Given the description of an element on the screen output the (x, y) to click on. 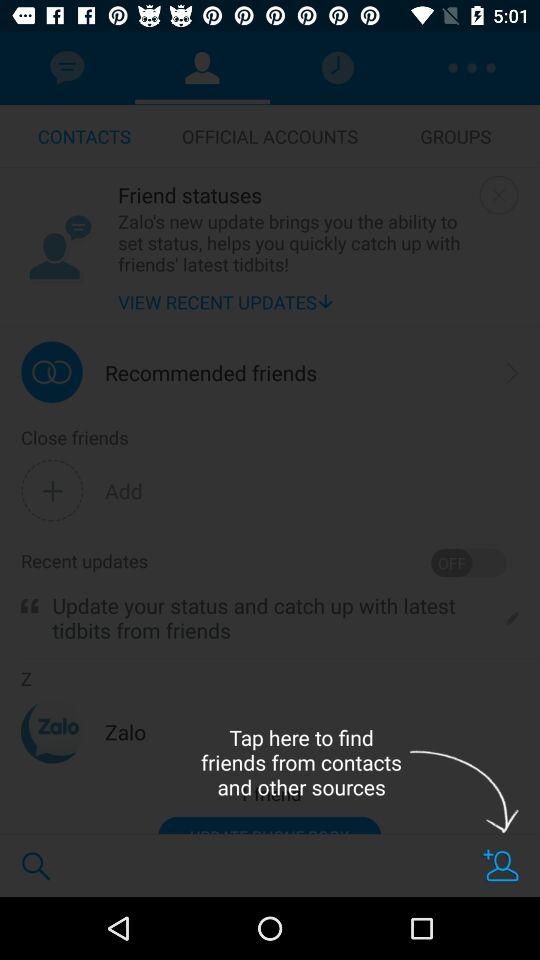
click icon next to the official accounts icon (455, 136)
